Given the description of an element on the screen output the (x, y) to click on. 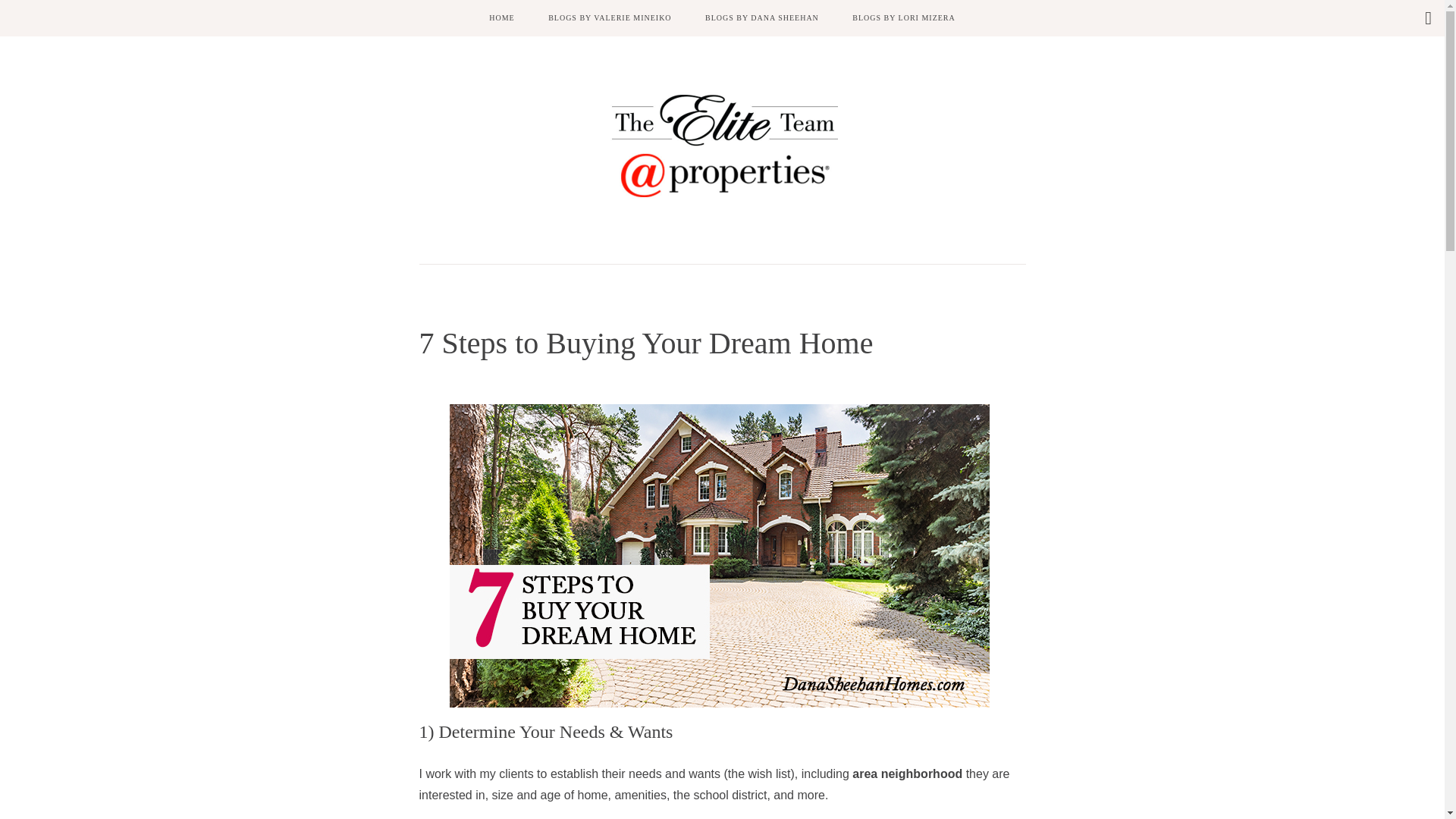
HOME (501, 18)
BLOGS BY DANA SHEEHAN (762, 18)
BLOGS BY VALERIE MINEIKO (608, 18)
The Elite Team Blog (722, 146)
Search (13, 10)
BLOGS BY LORI MIZERA (903, 18)
